Given the description of an element on the screen output the (x, y) to click on. 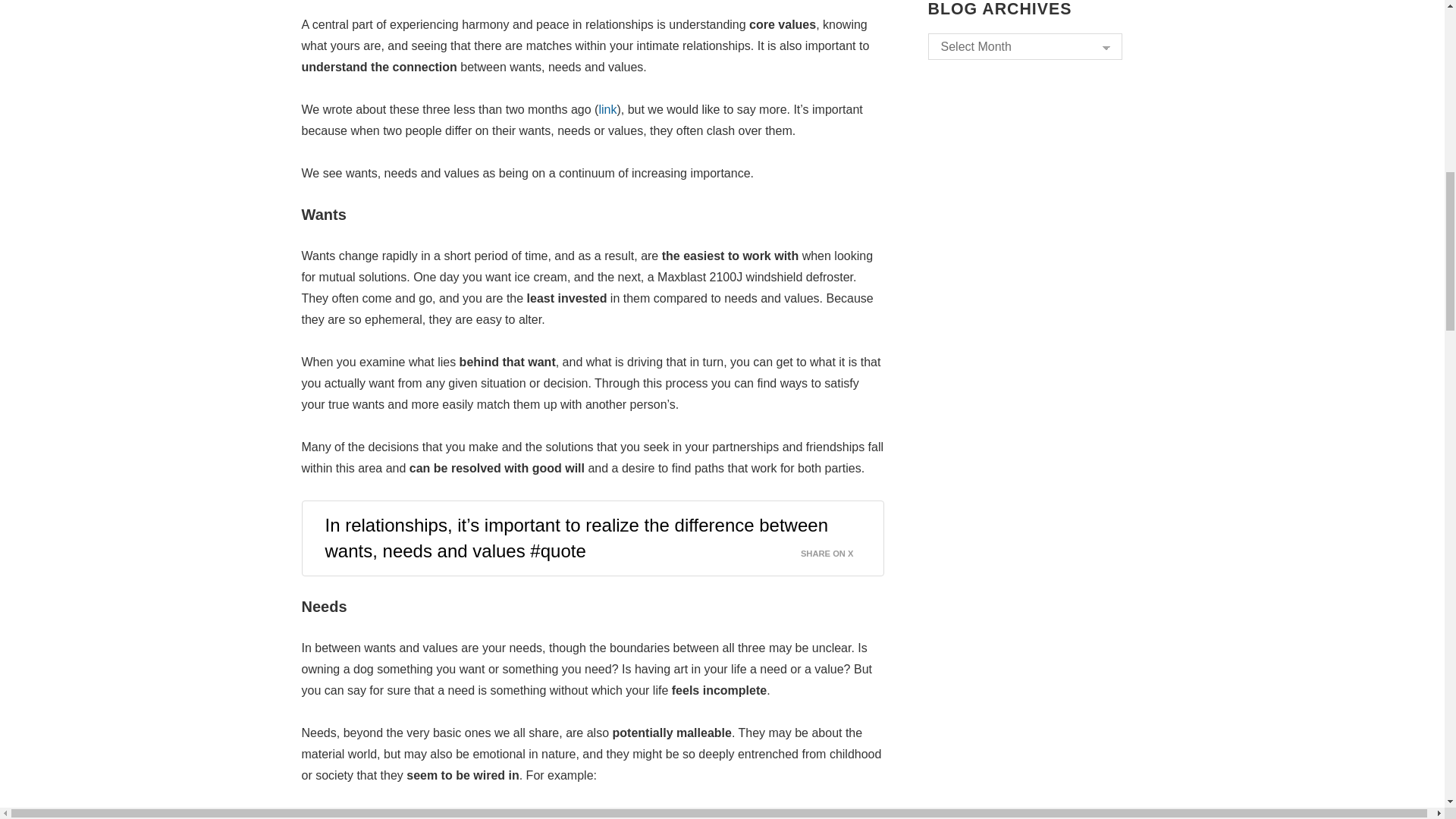
SHARE ON X (836, 549)
link (606, 109)
